Given the description of an element on the screen output the (x, y) to click on. 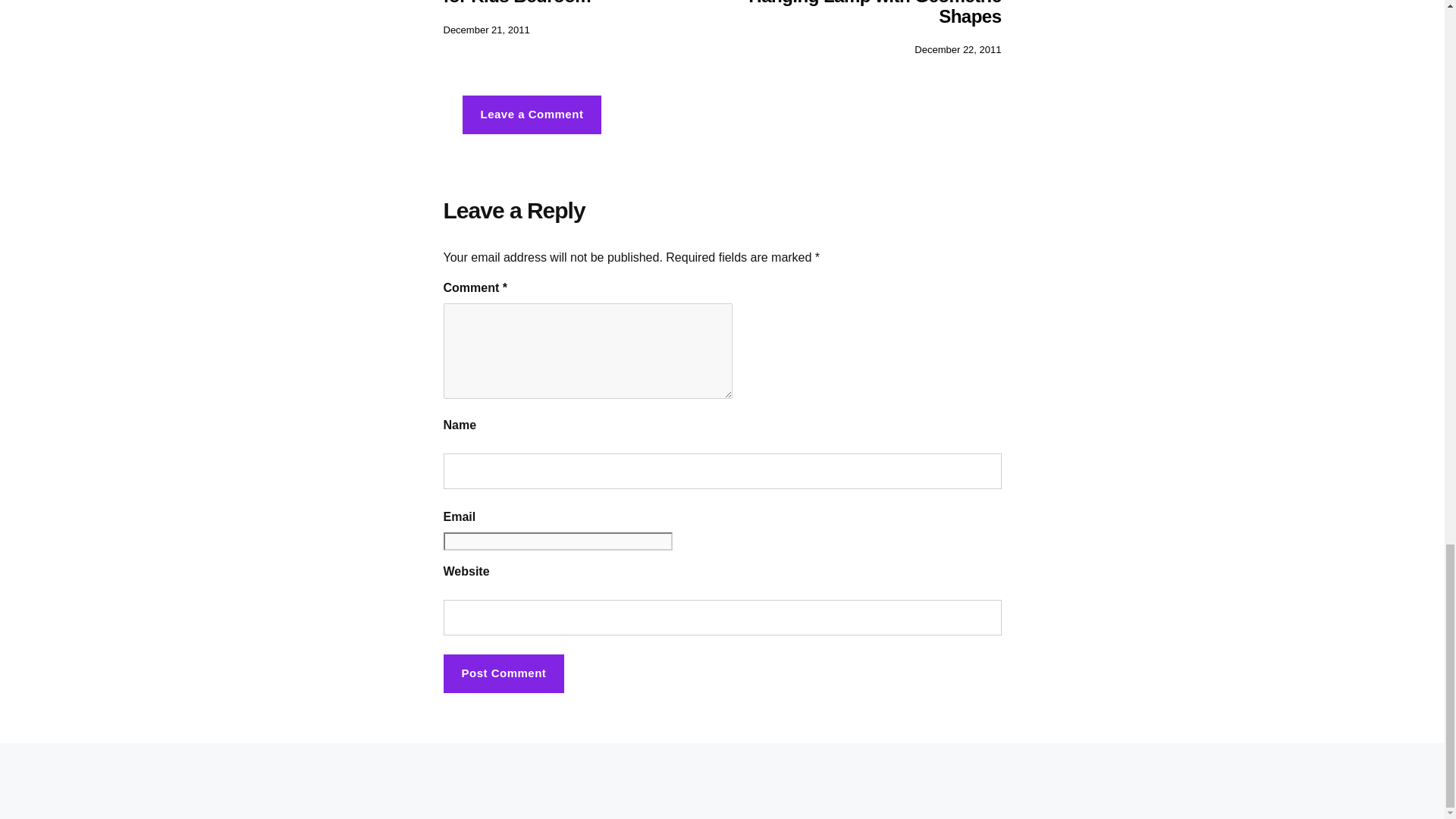
Multi-Coloured Sculptural Hanging Lamp with Geometric Shapes (874, 13)
Post Comment (503, 673)
Appealing Wall Stickers Ideas for Kids Bedroom (565, 2)
Post Comment (503, 673)
